Given the description of an element on the screen output the (x, y) to click on. 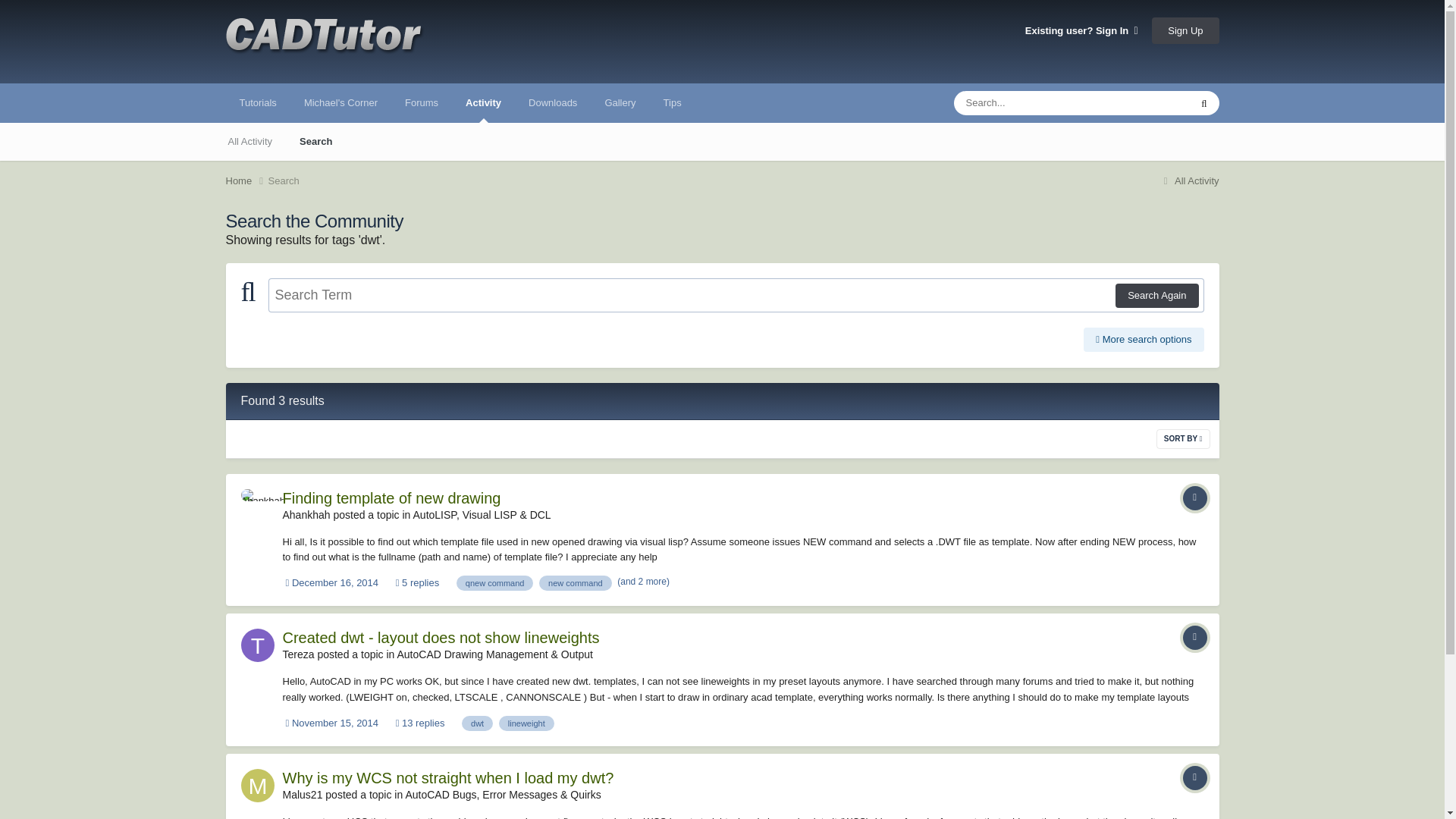
Home (246, 181)
Existing user? Sign In   (1081, 30)
Topic (1194, 637)
Michael's Corner (340, 102)
All Activity (1188, 180)
Topic (1194, 777)
All Activity (249, 141)
Downloads (553, 102)
Search (283, 180)
Forums (421, 102)
Find other content tagged with 'lineweight' (526, 723)
Search Again (1156, 295)
Find other content tagged with 'dwt' (477, 723)
Gallery (620, 102)
Find other content tagged with 'new command' (574, 582)
